Given the description of an element on the screen output the (x, y) to click on. 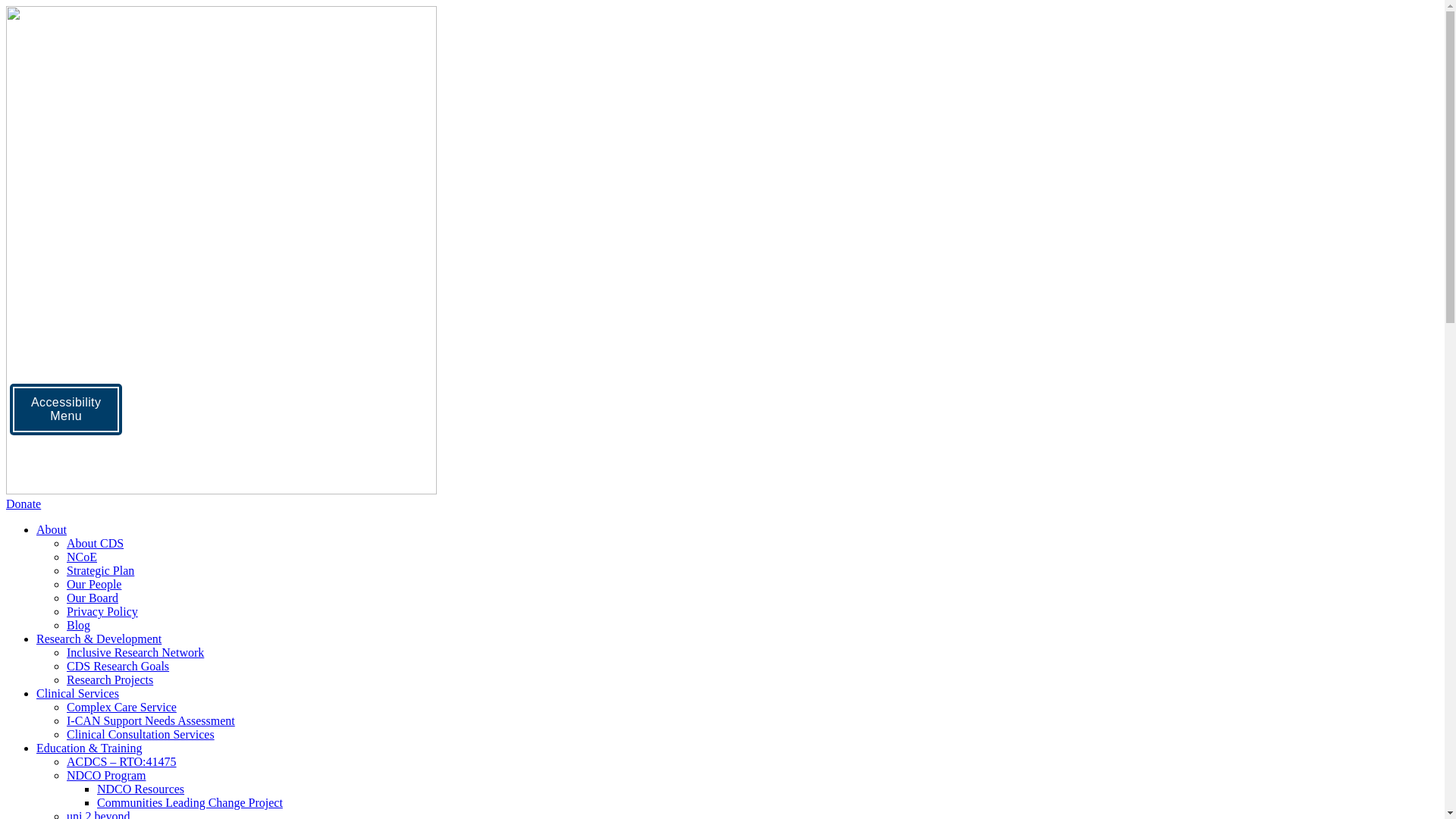
Research & Development Element type: text (98, 638)
Blog Element type: text (78, 624)
About CDS Element type: text (94, 542)
Communities Leading Change Project Element type: text (189, 802)
Inclusive Research Network Element type: text (134, 652)
Privacy Policy Element type: text (102, 611)
Research Projects Element type: text (109, 679)
NDCO Program Element type: text (105, 774)
Complex Care Service Element type: text (121, 706)
NDCO Resources Element type: text (140, 788)
CDS Research Goals Element type: text (117, 665)
I-CAN Support Needs Assessment Element type: text (150, 720)
About Element type: text (51, 529)
Clinical Consultation Services Element type: text (140, 734)
Our Board Element type: text (92, 597)
Donate Element type: text (23, 503)
Clinical Services Element type: text (77, 693)
NCoE Element type: text (81, 556)
Education & Training Element type: text (89, 747)
Our People Element type: text (93, 583)
Strategic Plan Element type: text (100, 570)
